Given the description of an element on the screen output the (x, y) to click on. 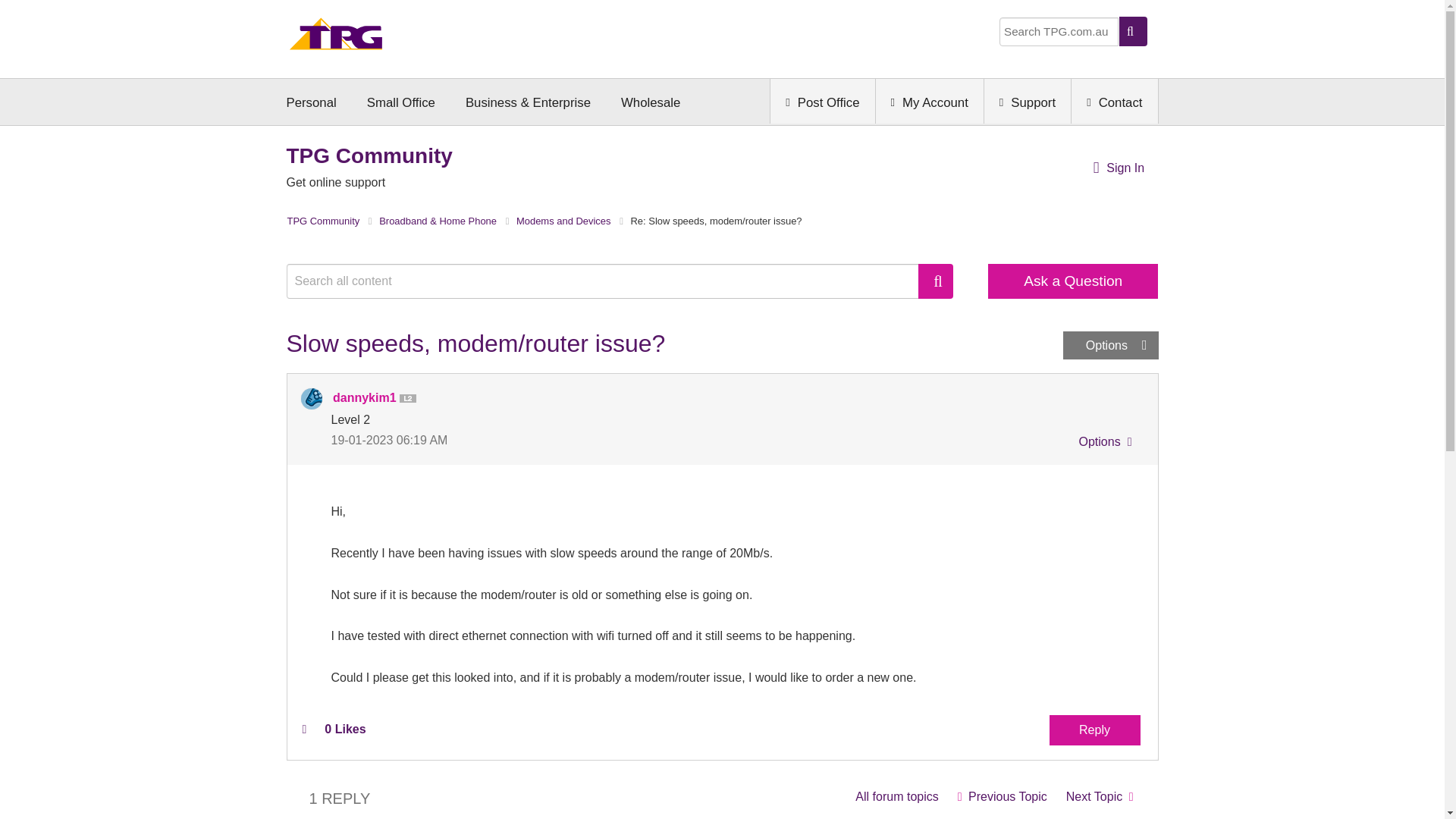
The total number of kudos this post has received. (344, 728)
Home (335, 38)
Click here to give kudos to this post. (303, 728)
Search (935, 280)
Level 2 (410, 398)
Search (610, 280)
dannykim1 (310, 398)
Ping spikes at night (1002, 796)
Modems and Devices (896, 796)
Posted on (526, 439)
Search (935, 280)
Replacement faulty brand new 4g modem (1099, 796)
